Given the description of an element on the screen output the (x, y) to click on. 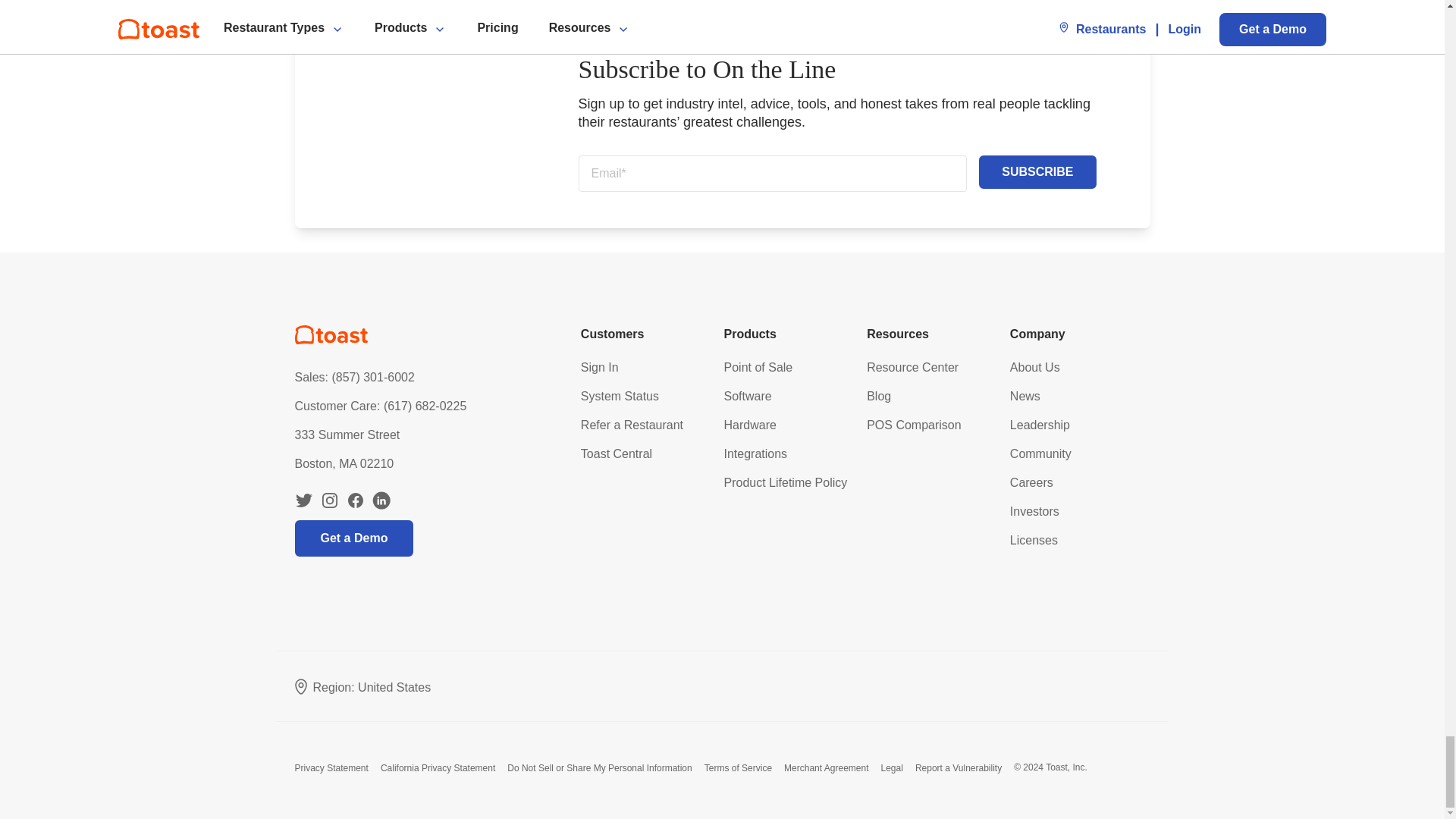
Toast on Instagram (328, 500)
Toast on Facebook (355, 500)
Toast on LinkedIn (380, 500)
Toast on Twitter (303, 500)
